Given the description of an element on the screen output the (x, y) to click on. 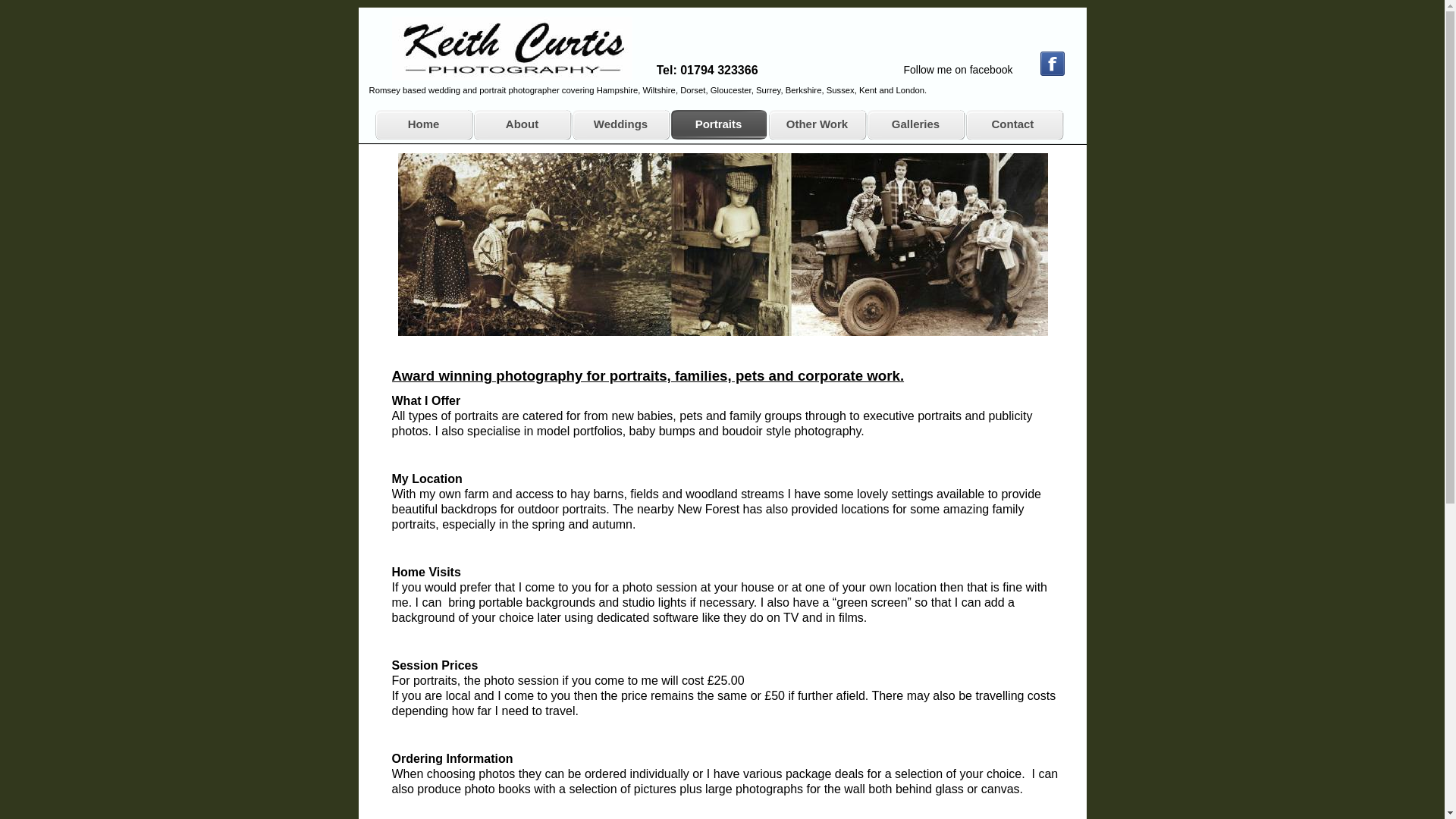
Portraits (717, 124)
Galleries (914, 124)
Other Work (816, 124)
Weddings (620, 124)
Contact  (1012, 124)
Home (423, 124)
About (522, 124)
